Given the description of an element on the screen output the (x, y) to click on. 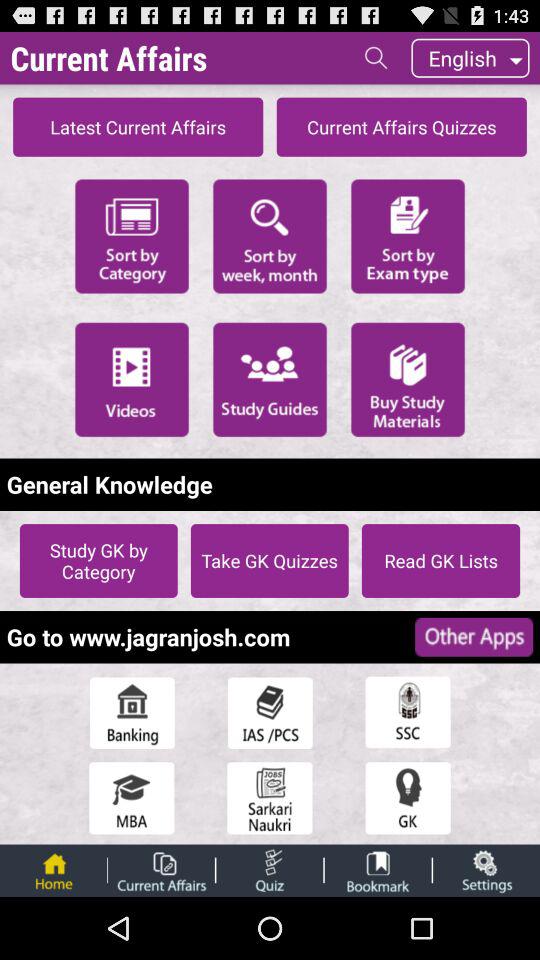
turn on the icon above the general knowledge item (269, 379)
